Given the description of an element on the screen output the (x, y) to click on. 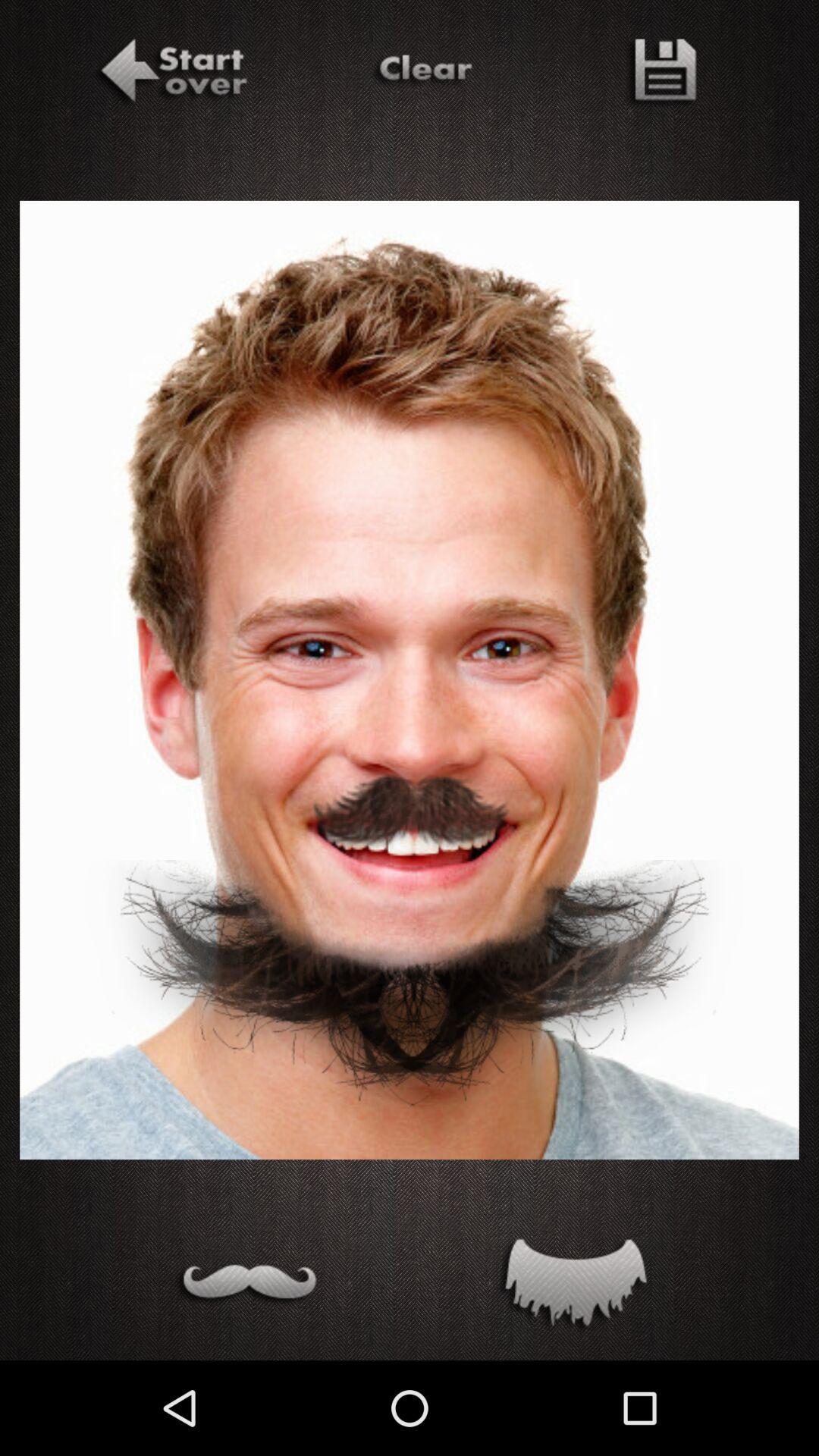
choose a beard option (571, 1286)
